Given the description of an element on the screen output the (x, y) to click on. 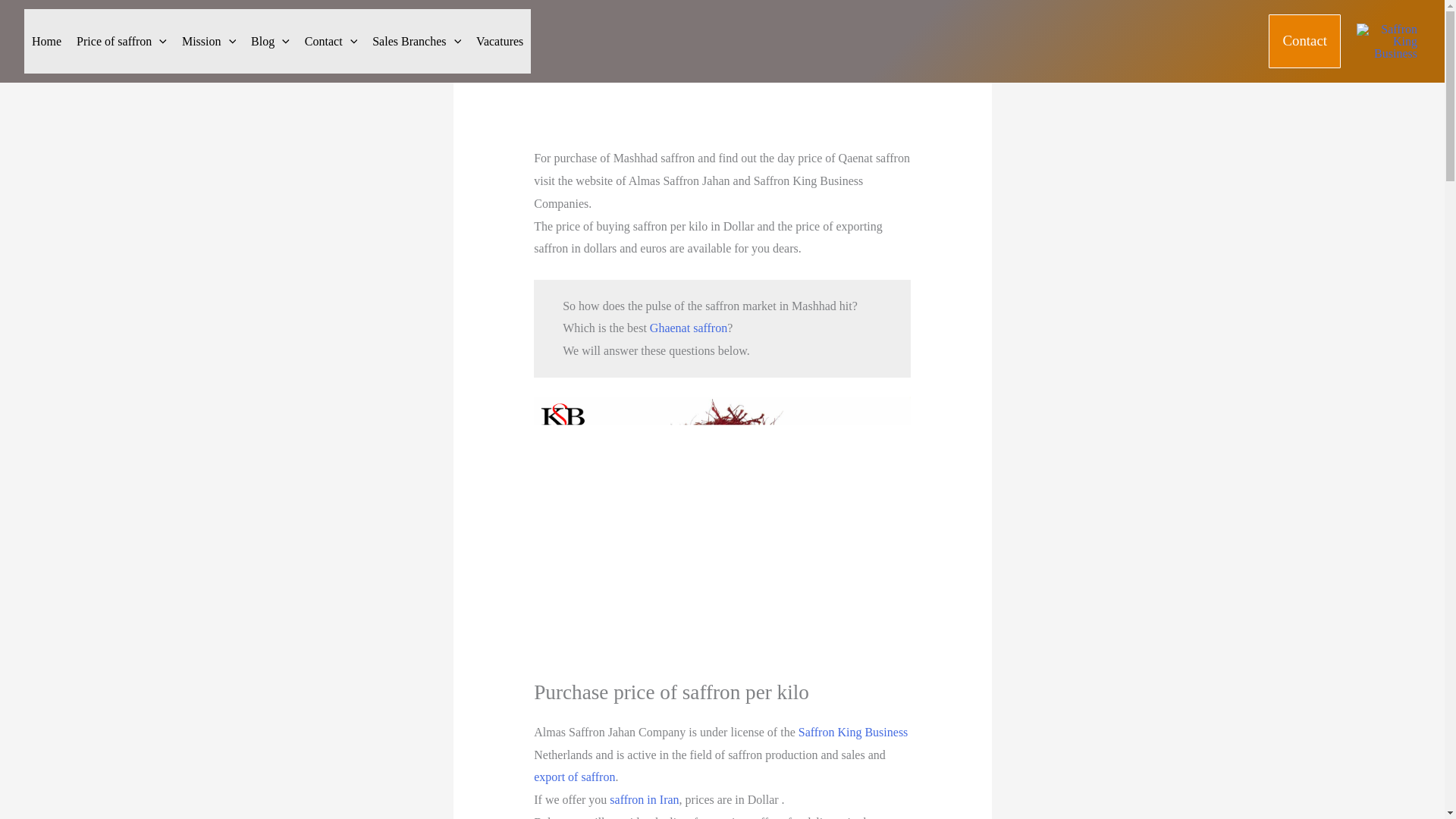
Contact (331, 41)
Vacatures (499, 41)
Contact (1304, 40)
Sales Branches (416, 41)
Price of saffron (121, 41)
Mission (208, 41)
